Given the description of an element on the screen output the (x, y) to click on. 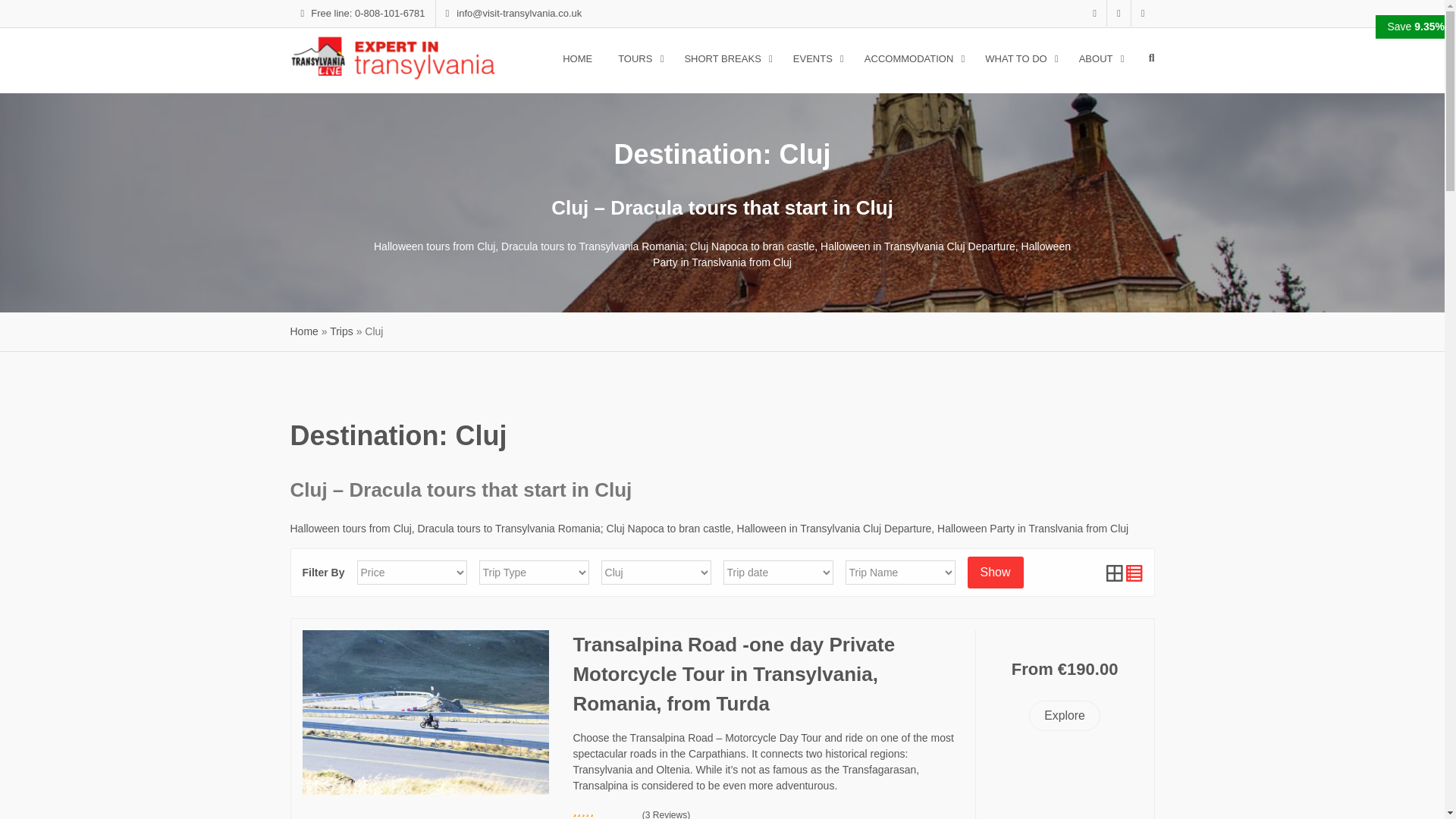
Twitter (1118, 13)
Facebook (1094, 13)
Rated 5 out of 5 (603, 811)
Free line: 0-808-101-6781 (361, 13)
YouTube (1142, 13)
